Given the description of an element on the screen output the (x, y) to click on. 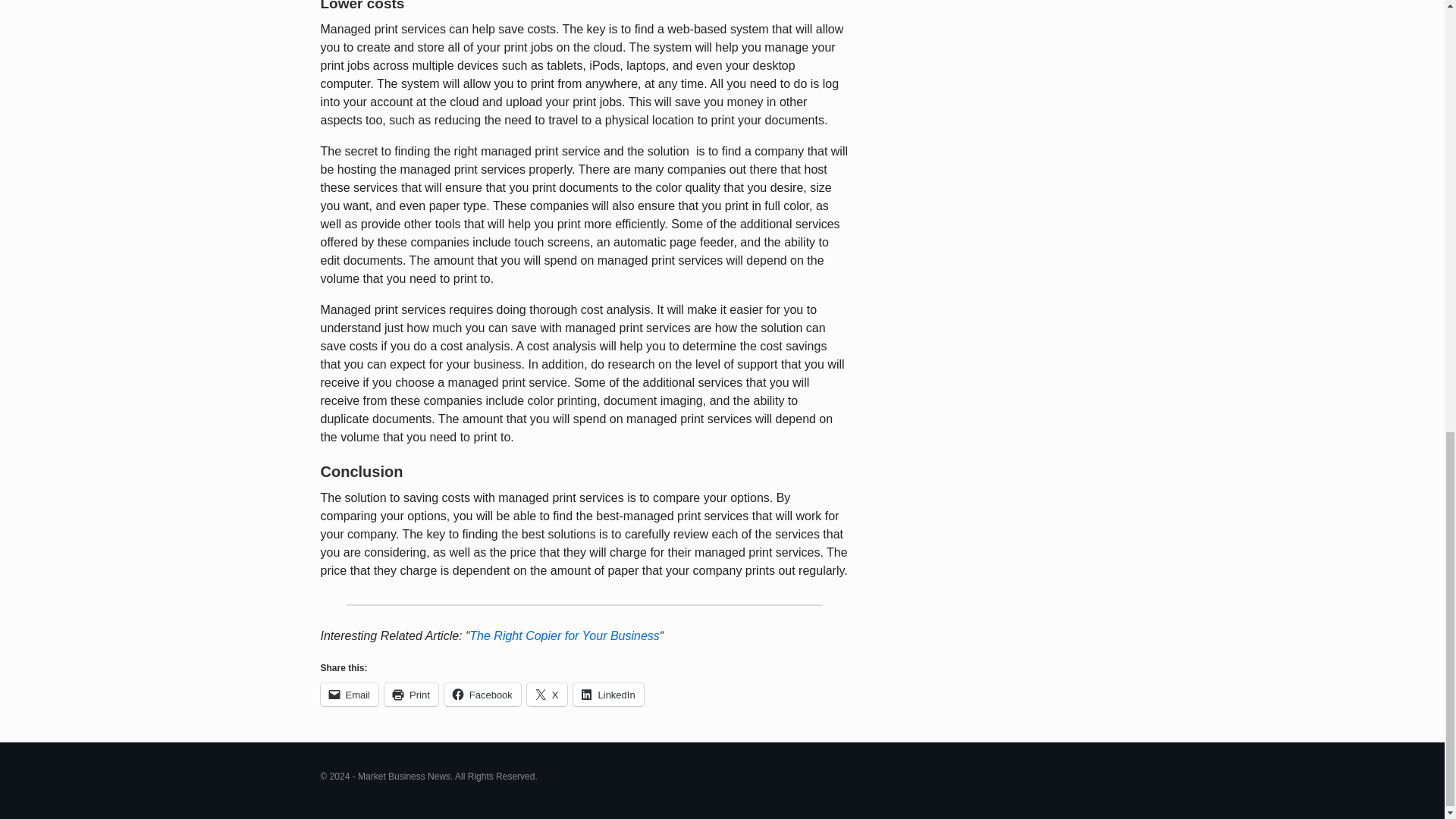
LinkedIn (608, 694)
Click to share on LinkedIn (608, 694)
X (547, 694)
Click to email a link to a friend (349, 694)
Click to share on Facebook (482, 694)
Facebook (482, 694)
Click to print (411, 694)
Email (349, 694)
Print (411, 694)
Click to share on X (547, 694)
The Right Copier for Your Business (563, 635)
